Given the description of an element on the screen output the (x, y) to click on. 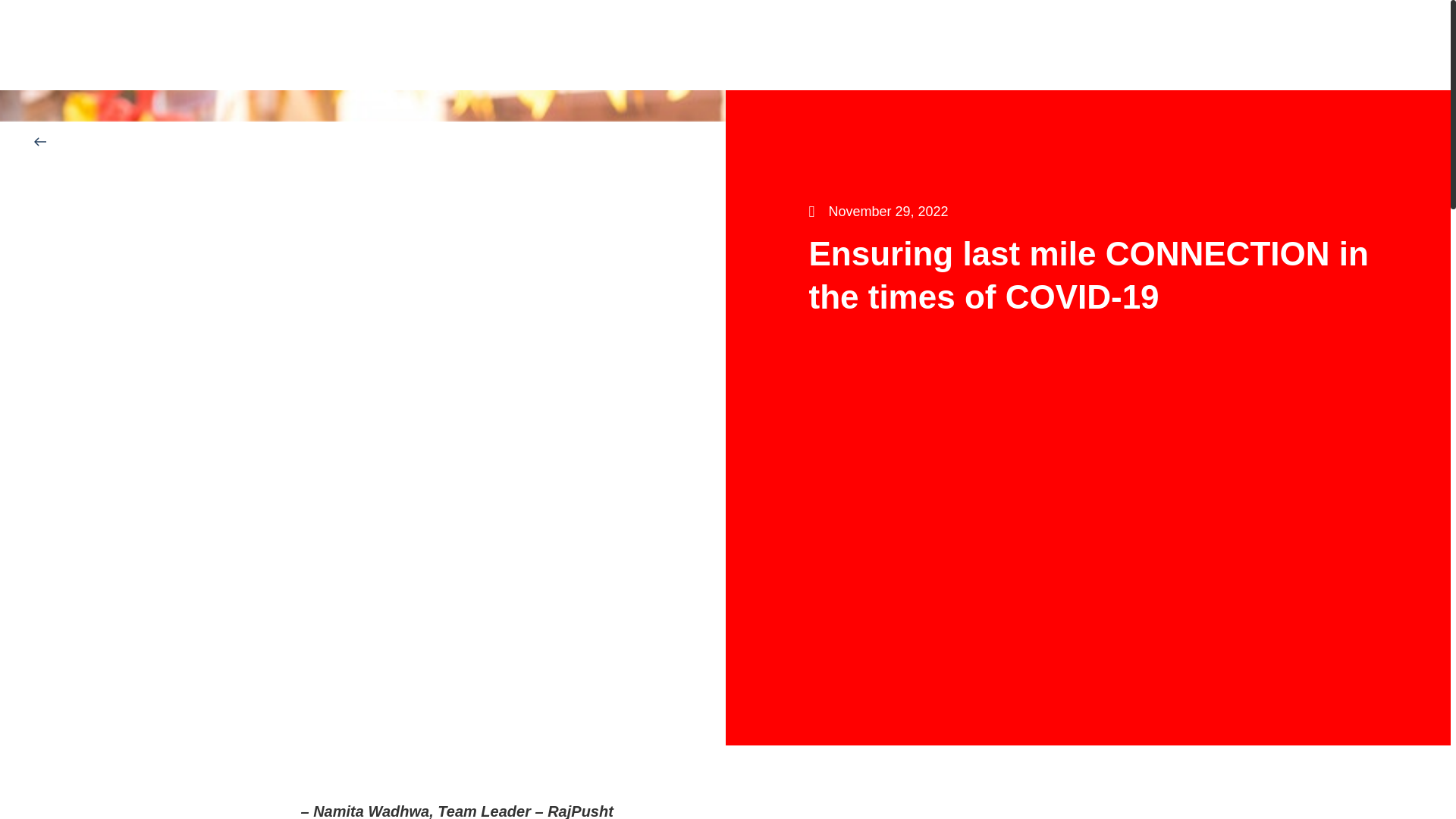
Back to People Speak (102, 141)
November 29, 2022 (877, 211)
